Given the description of an element on the screen output the (x, y) to click on. 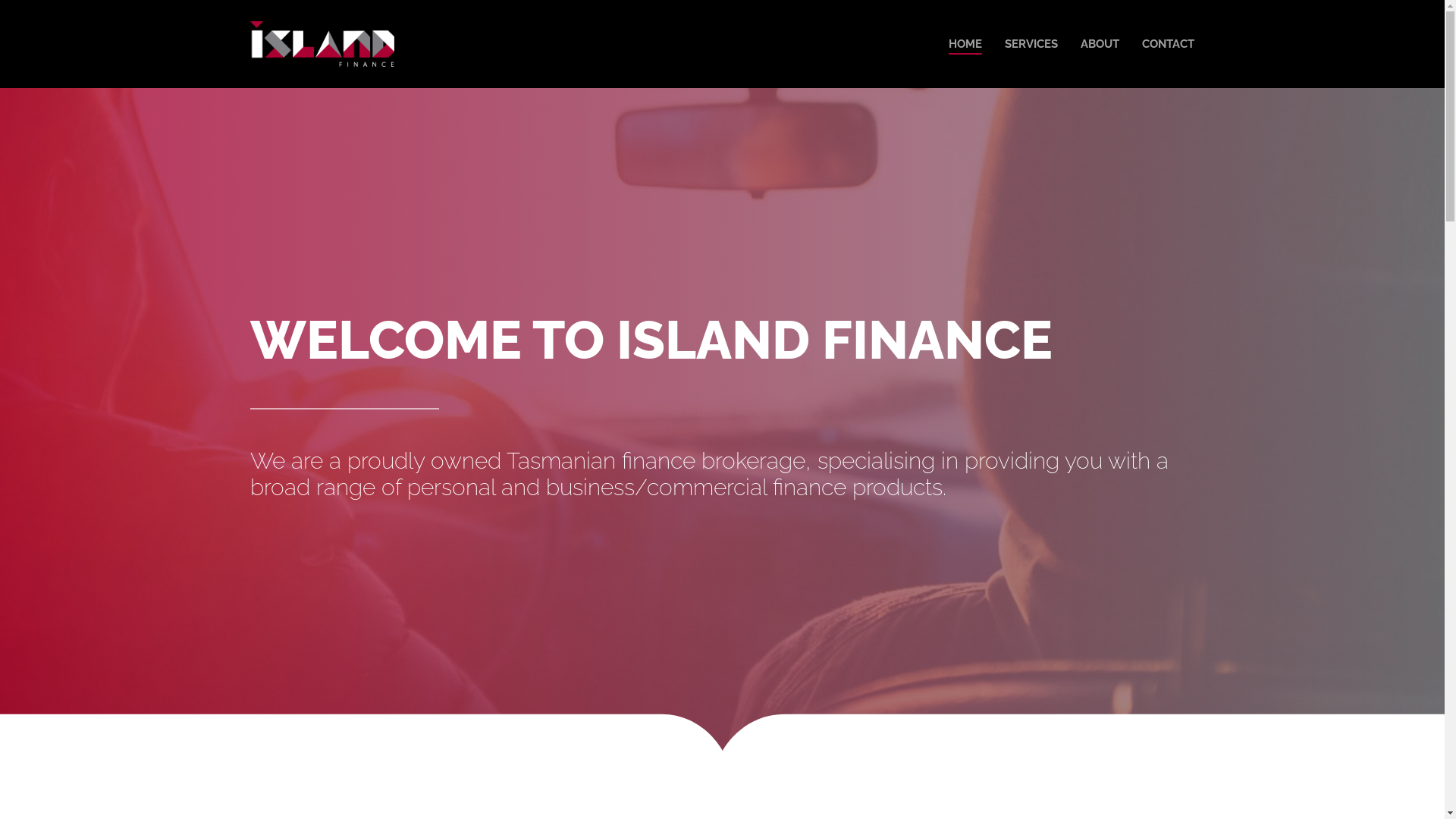
HOME Element type: text (965, 44)
SERVICES Element type: text (1030, 44)
ABOUT Element type: text (1099, 44)
CONTACT Element type: text (1168, 44)
